Given the description of an element on the screen output the (x, y) to click on. 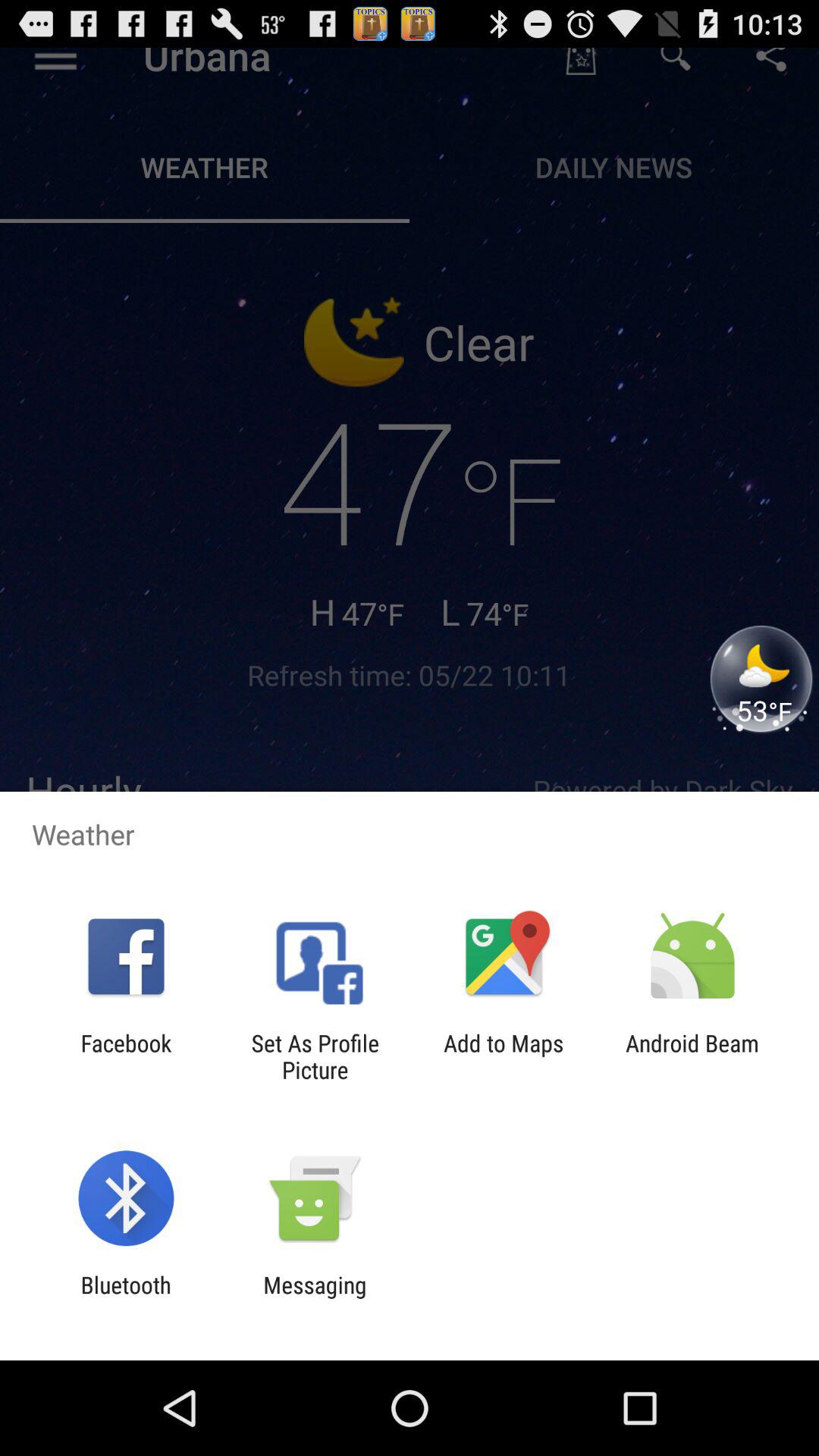
click the icon next to messaging app (125, 1298)
